Given the description of an element on the screen output the (x, y) to click on. 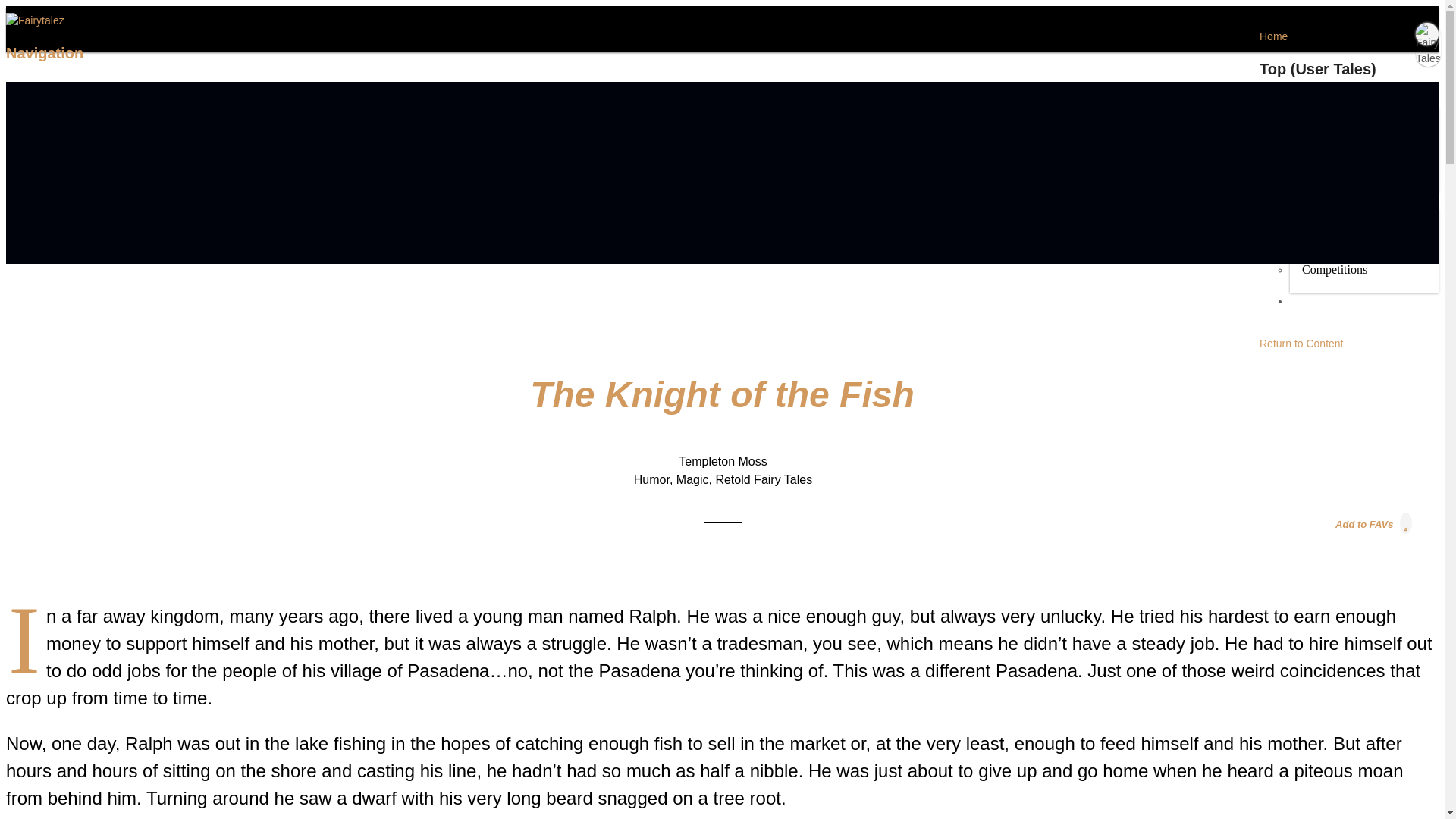
Magic (693, 479)
Templeton Moss (722, 461)
Retold Fairy Tales (763, 479)
CLASSIC TALES (1330, 106)
Competitions (1334, 269)
Add to FAVs (1373, 522)
Fairytalez audio book android app (816, 232)
USER TALES (1322, 206)
Return to Content (1301, 343)
FAQ (1300, 306)
